Given the description of an element on the screen output the (x, y) to click on. 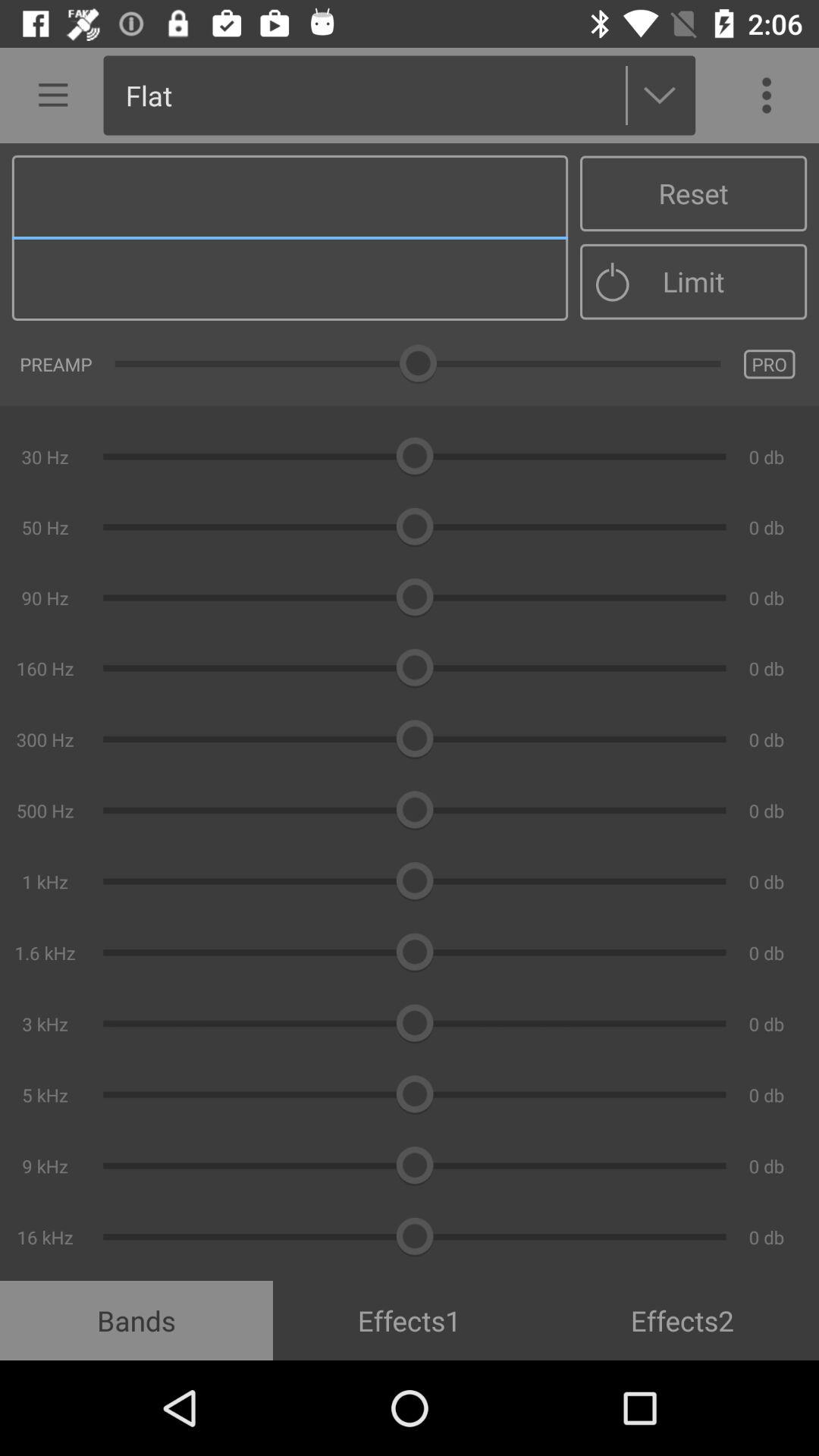
turn off reset item (693, 193)
